Given the description of an element on the screen output the (x, y) to click on. 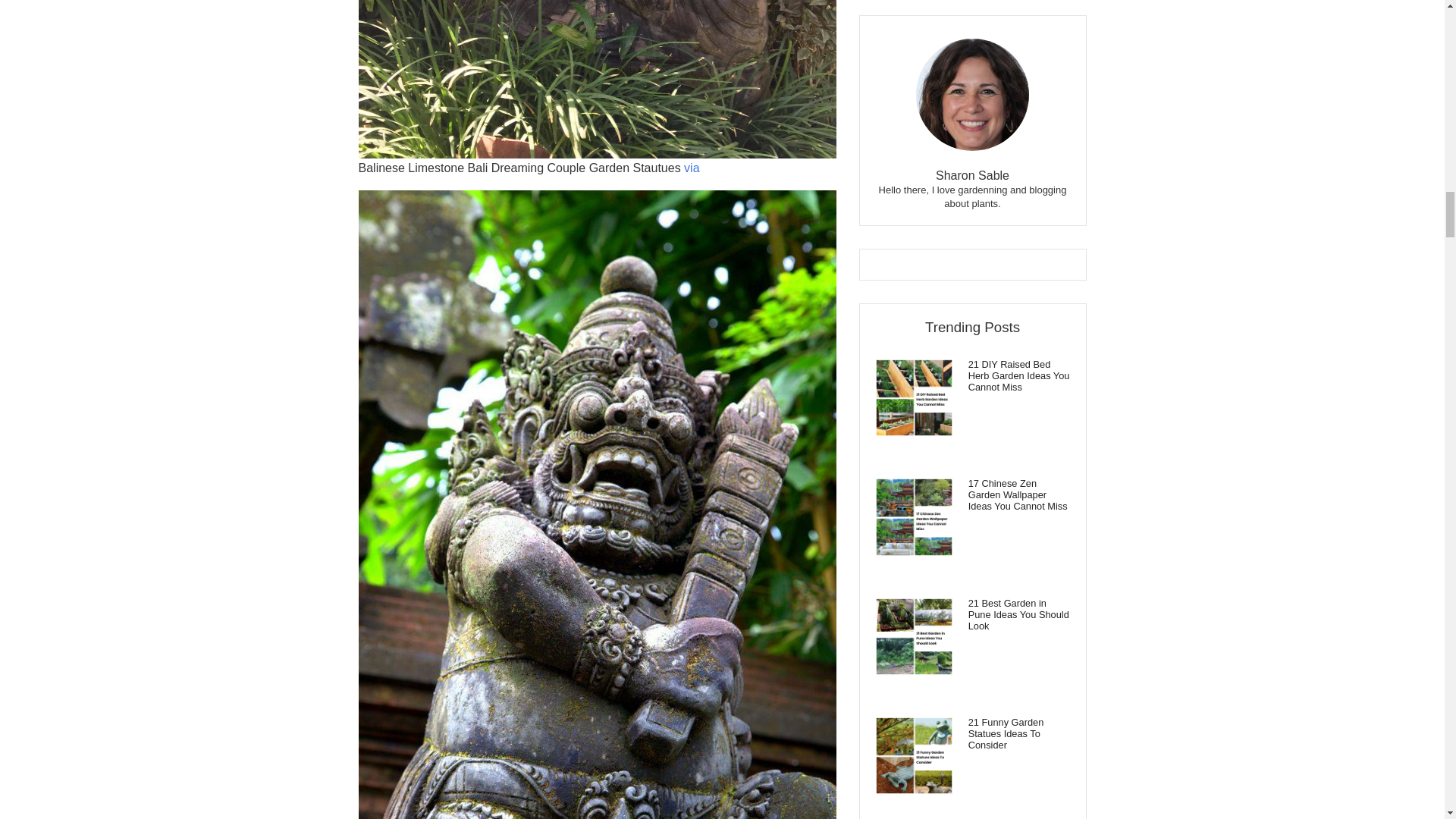
via (691, 167)
